Given the description of an element on the screen output the (x, y) to click on. 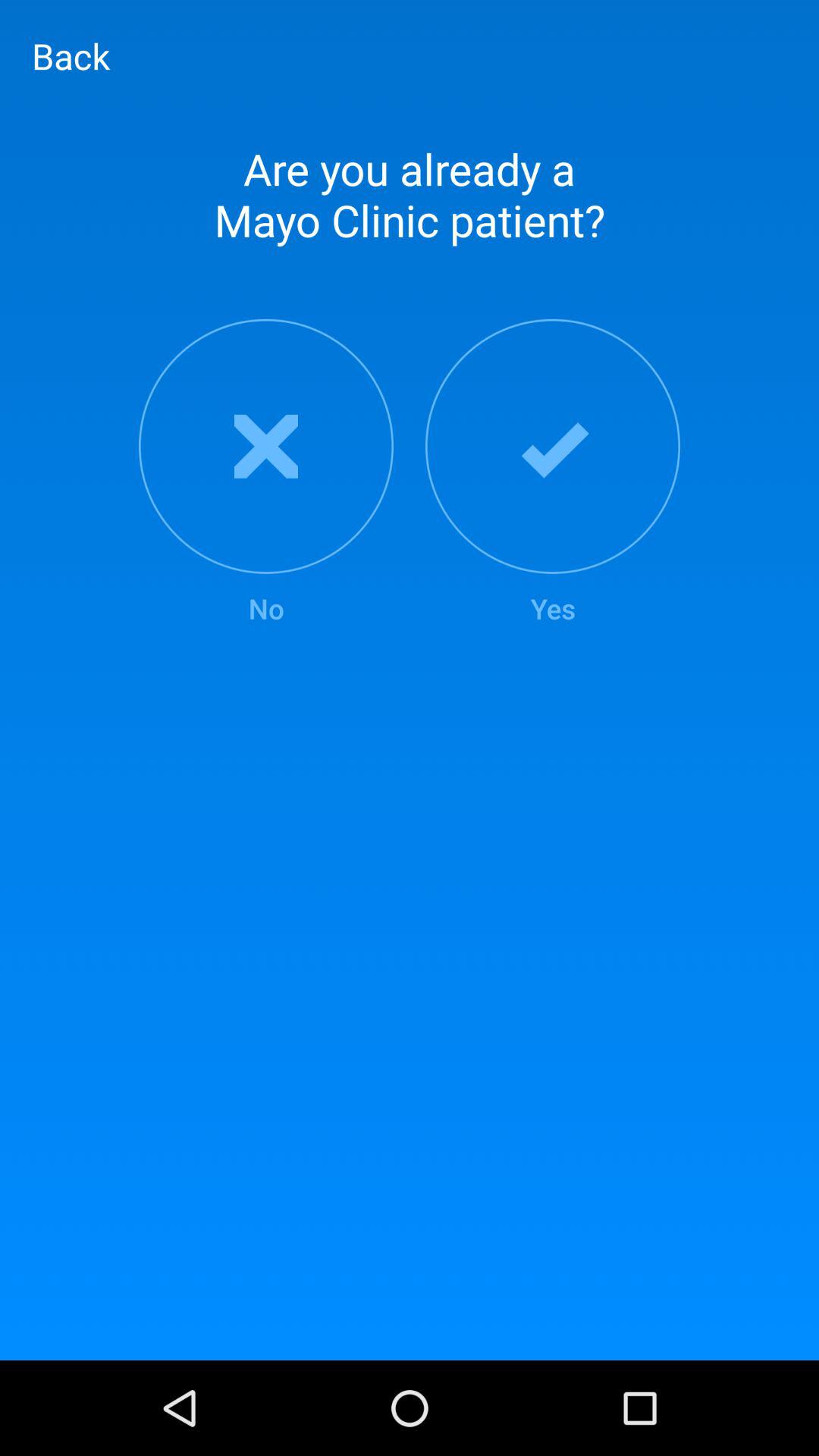
scroll until yes item (552, 473)
